Given the description of an element on the screen output the (x, y) to click on. 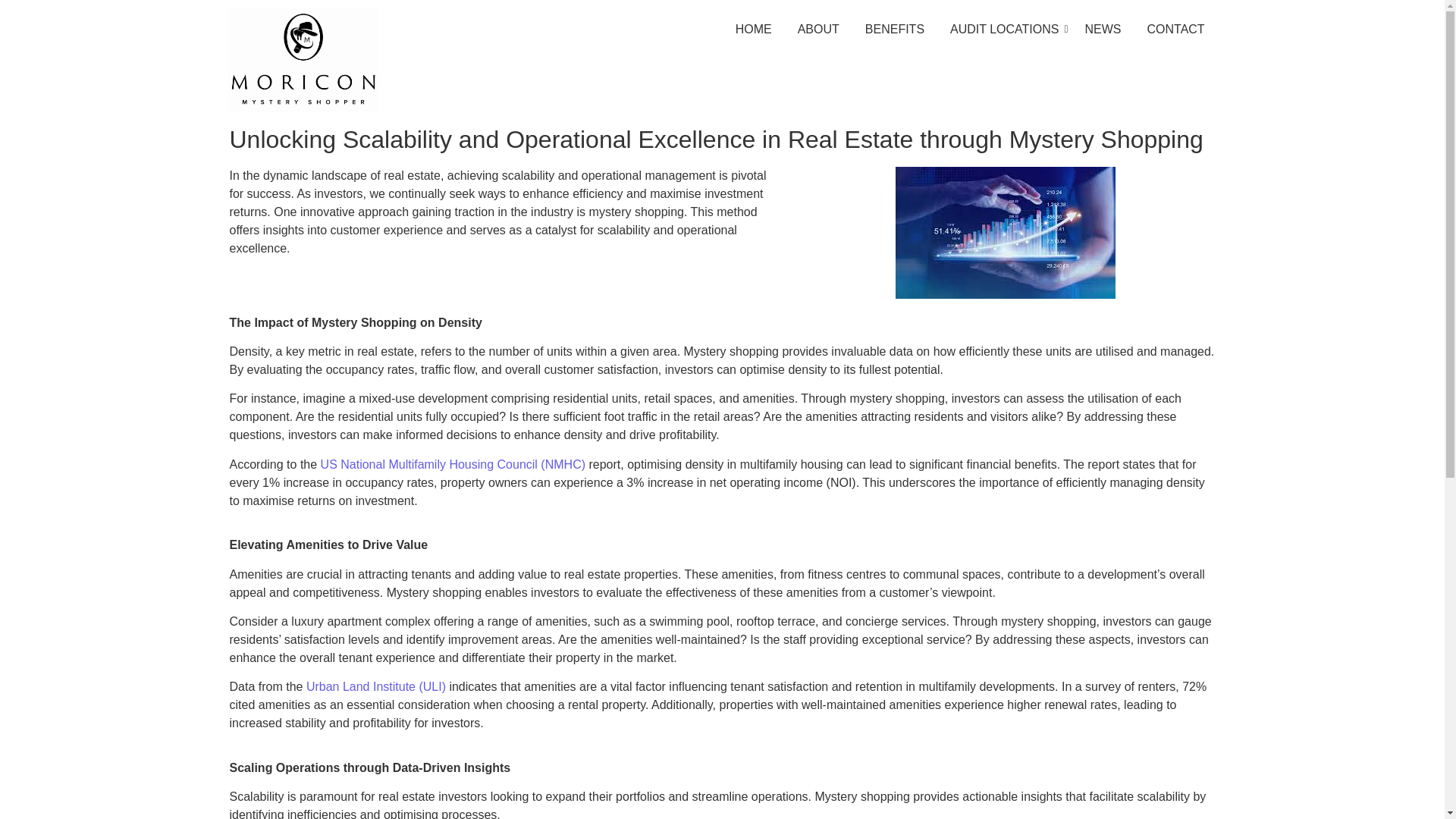
CONTACT (1175, 30)
ABOUT (818, 30)
AUDIT LOCATIONS (1004, 30)
NEWS (1101, 30)
HOME (753, 30)
BENEFITS (895, 30)
